Given the description of an element on the screen output the (x, y) to click on. 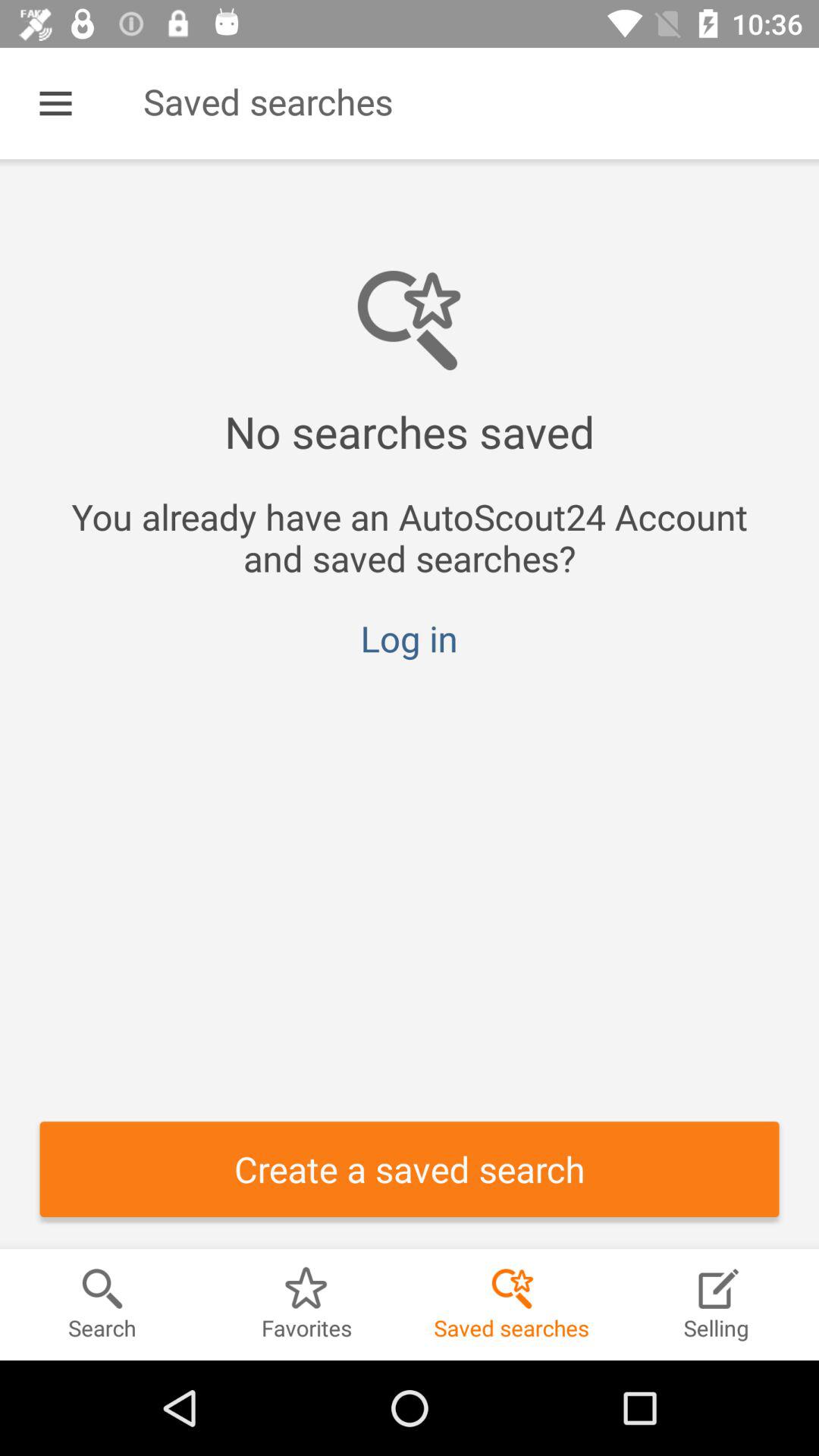
choose the icon below the log in (409, 1169)
